Given the description of an element on the screen output the (x, y) to click on. 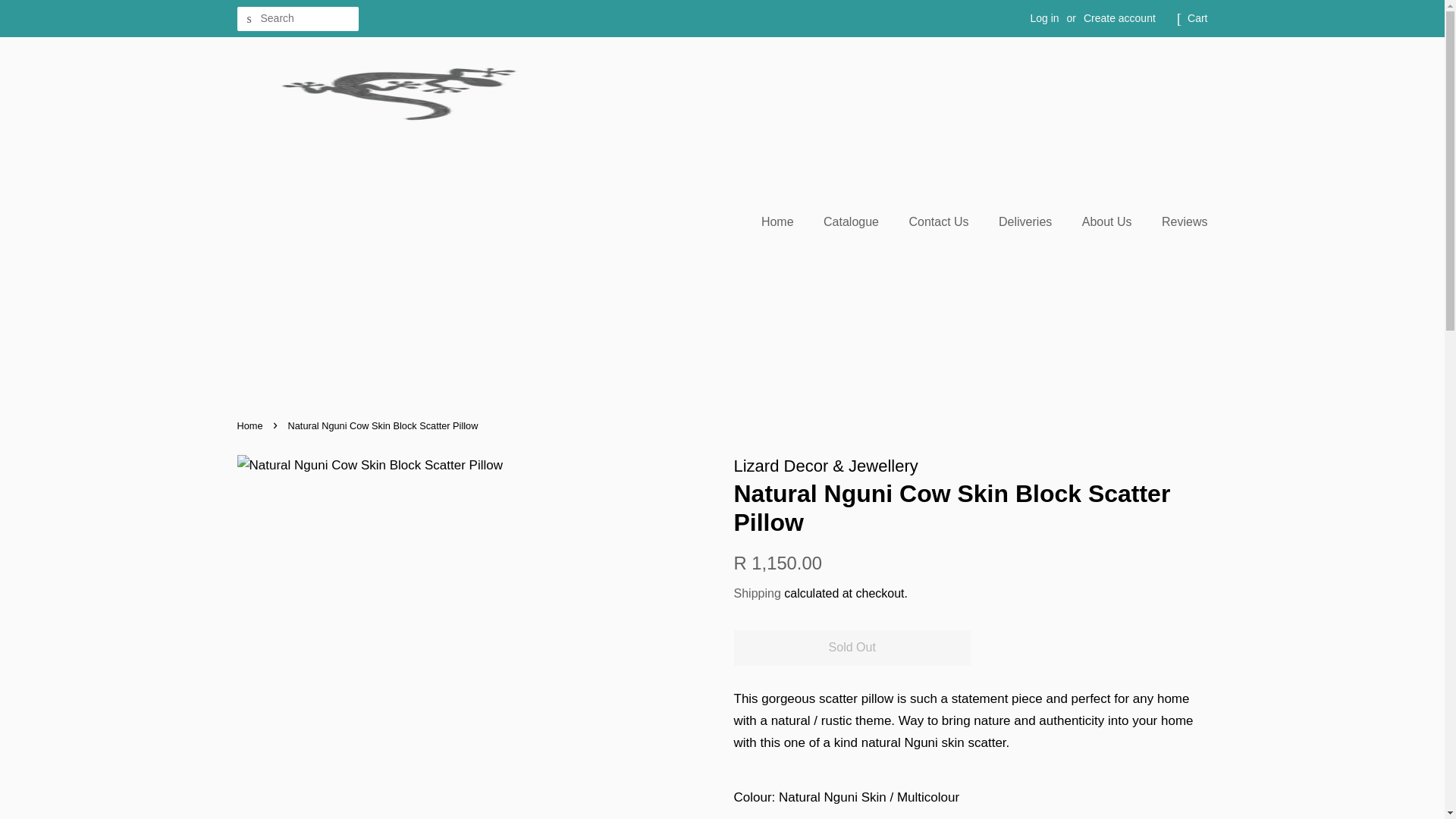
Deliveries (1027, 221)
Log in (1043, 18)
About Us (1108, 221)
Home (250, 425)
Back to the frontpage (250, 425)
Sold Out (852, 647)
Create account (1119, 18)
Search (247, 18)
Cart (1197, 18)
Catalogue (852, 221)
